Given the description of an element on the screen output the (x, y) to click on. 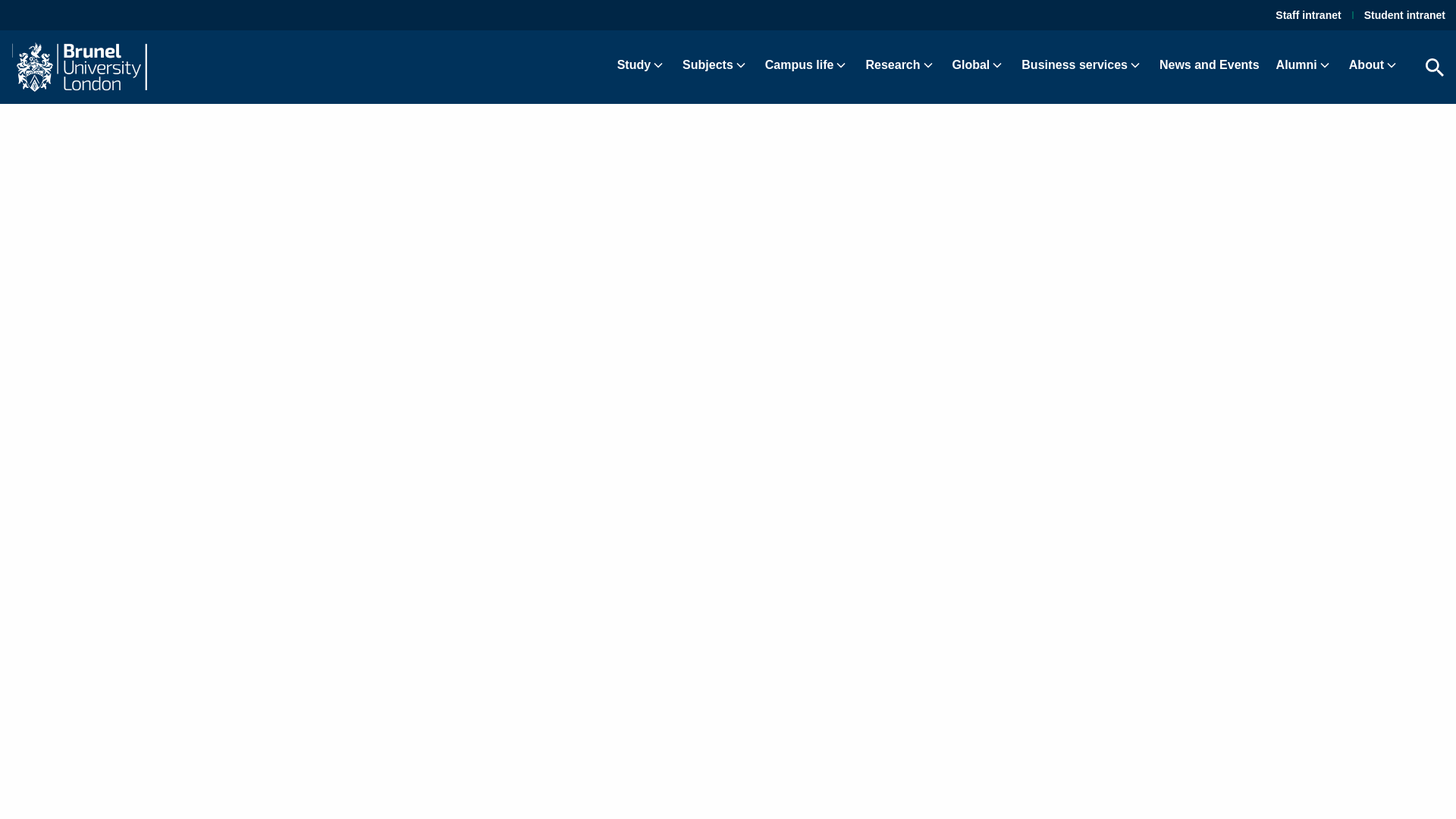
Staff intranet (1307, 15)
Student intranet (1404, 15)
Skip to main content (19, 14)
